Given the description of an element on the screen output the (x, y) to click on. 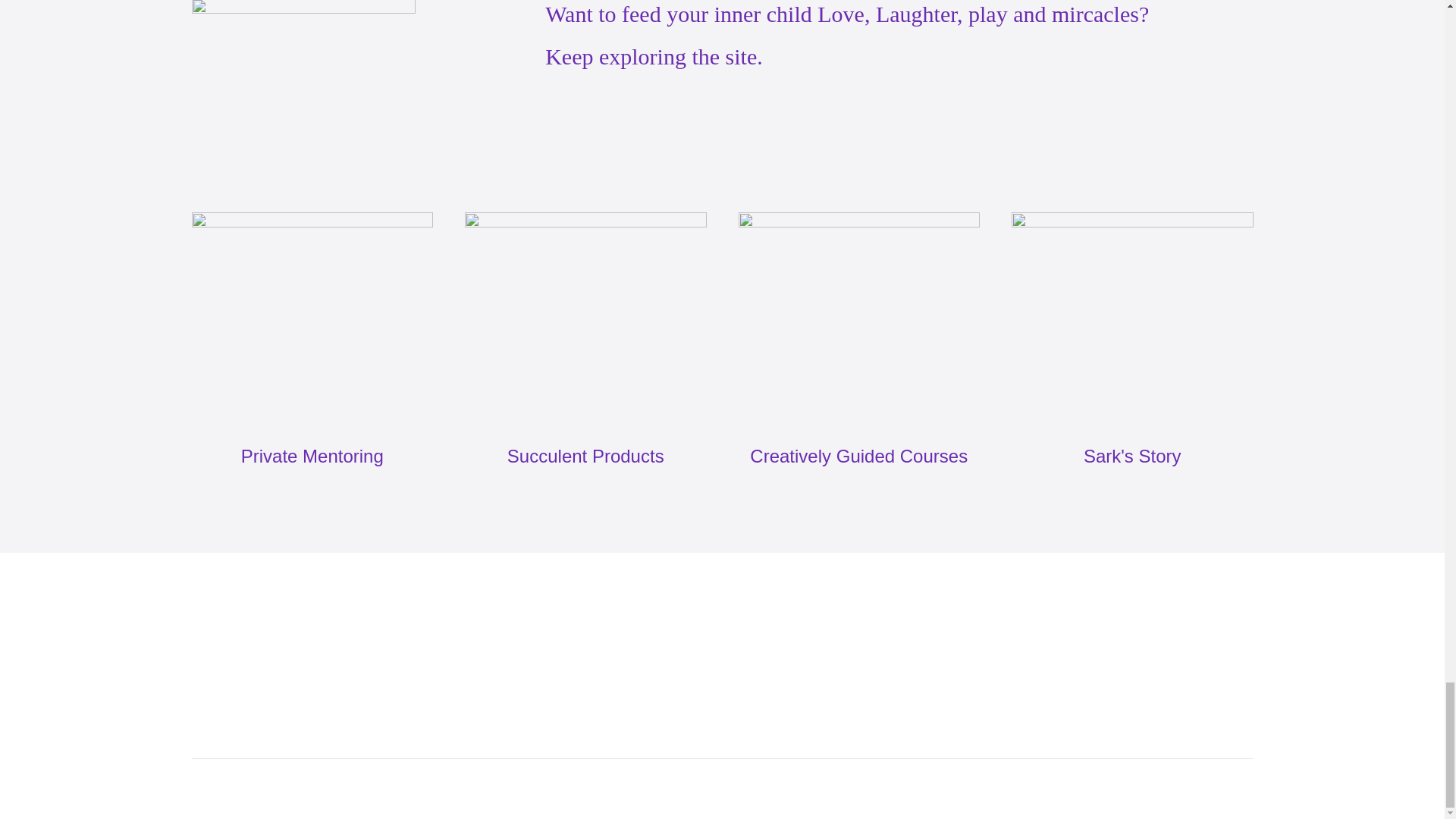
Succulent Products (585, 318)
SARK Joy (496, 746)
SARK Joy (572, 744)
succulent life (302, 91)
Private Mentoring with Sark (311, 318)
Creatively Guided Courses (858, 318)
Sarks Story (1132, 318)
